Given the description of an element on the screen output the (x, y) to click on. 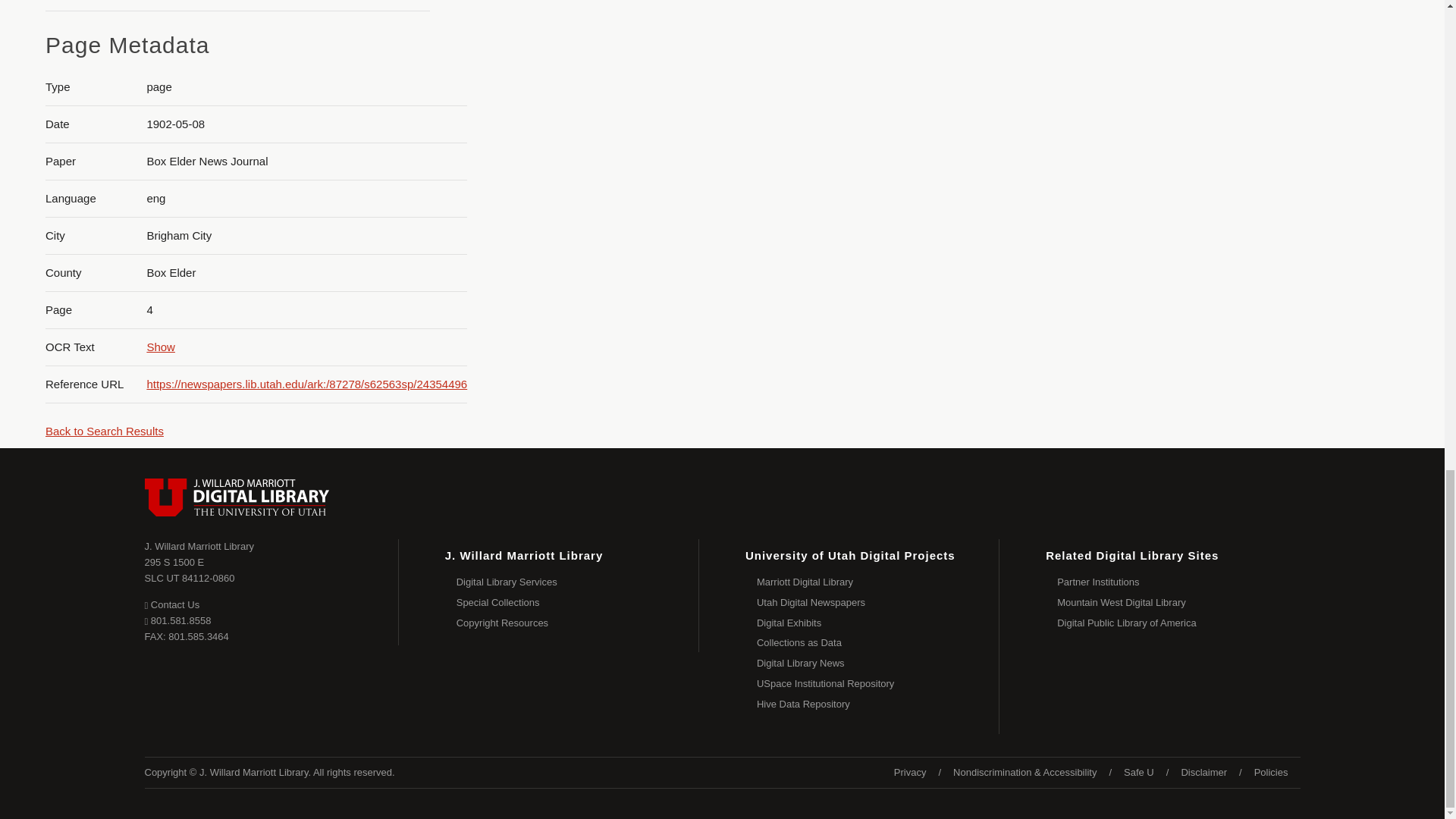
Digital Library Services (577, 582)
Contact Us (171, 604)
Show (160, 346)
Back to Search Results (104, 431)
Page 8 (1299, 13)
J. Willard Marriott Library (198, 546)
